Given the description of an element on the screen output the (x, y) to click on. 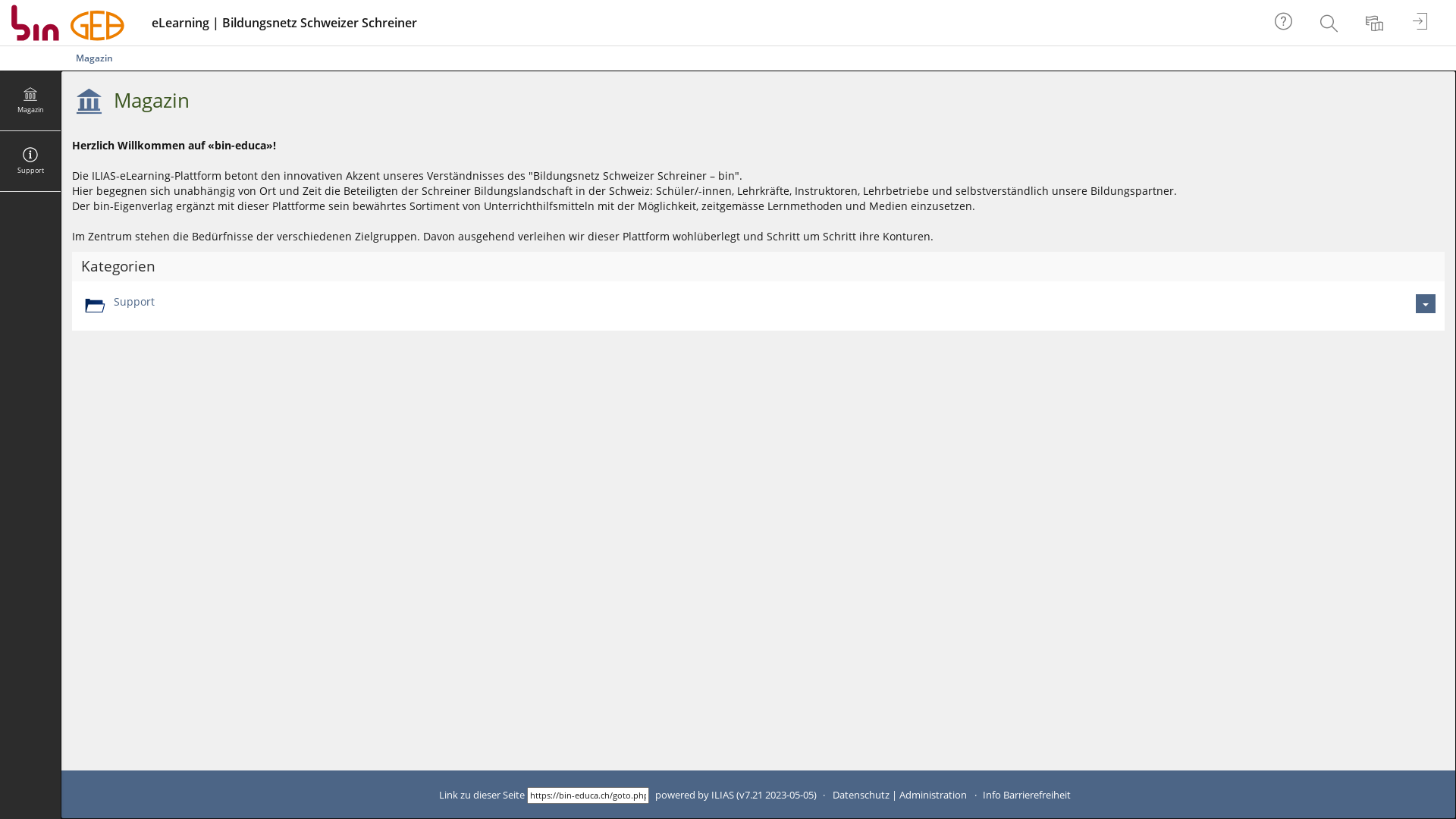
Support Element type: text (133, 301)
Info Barrierefreiheit Element type: text (1026, 794)
Sprache Element type: text (1376, 22)
Hilfe Element type: text (1285, 22)
Datenschutz | Administration Element type: text (899, 794)
Magazin Element type: text (30, 100)
Magazin Element type: text (151, 99)
Support Element type: text (30, 161)
Suche Element type: text (1330, 22)
Kategorie Element type: hover (94, 305)
Magazin Element type: text (93, 57)
Symbol Magazin - Einstiegsseite Element type: hover (89, 101)
Anmelden Element type: text (1421, 22)
